Given the description of an element on the screen output the (x, y) to click on. 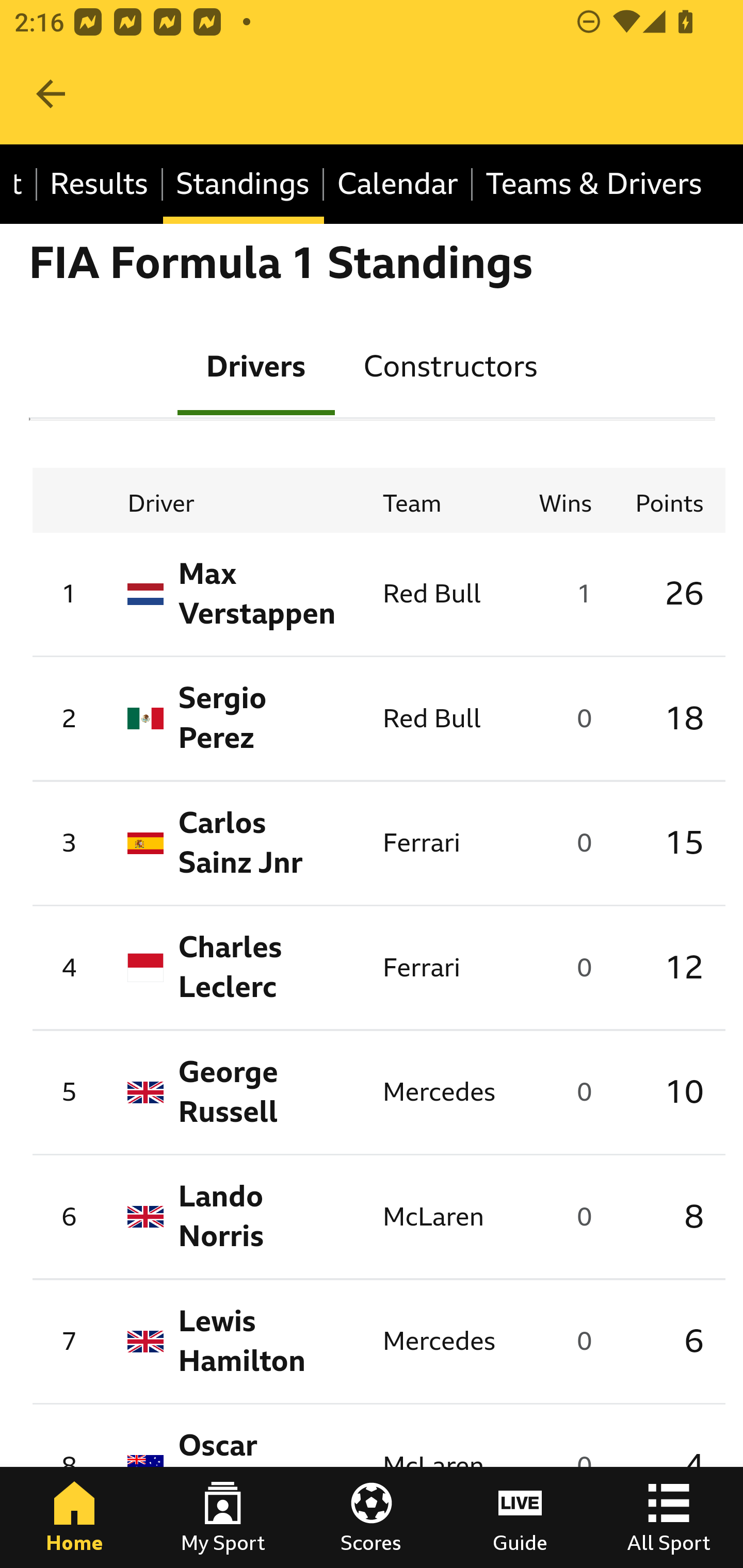
Navigate up (50, 93)
Results (100, 184)
Standings (243, 184)
Calendar (398, 184)
Teams & Drivers (593, 184)
Drivers (255, 365)
Constructors (449, 365)
My Sport (222, 1517)
Scores (371, 1517)
Guide (519, 1517)
All Sport (668, 1517)
